Given the description of an element on the screen output the (x, y) to click on. 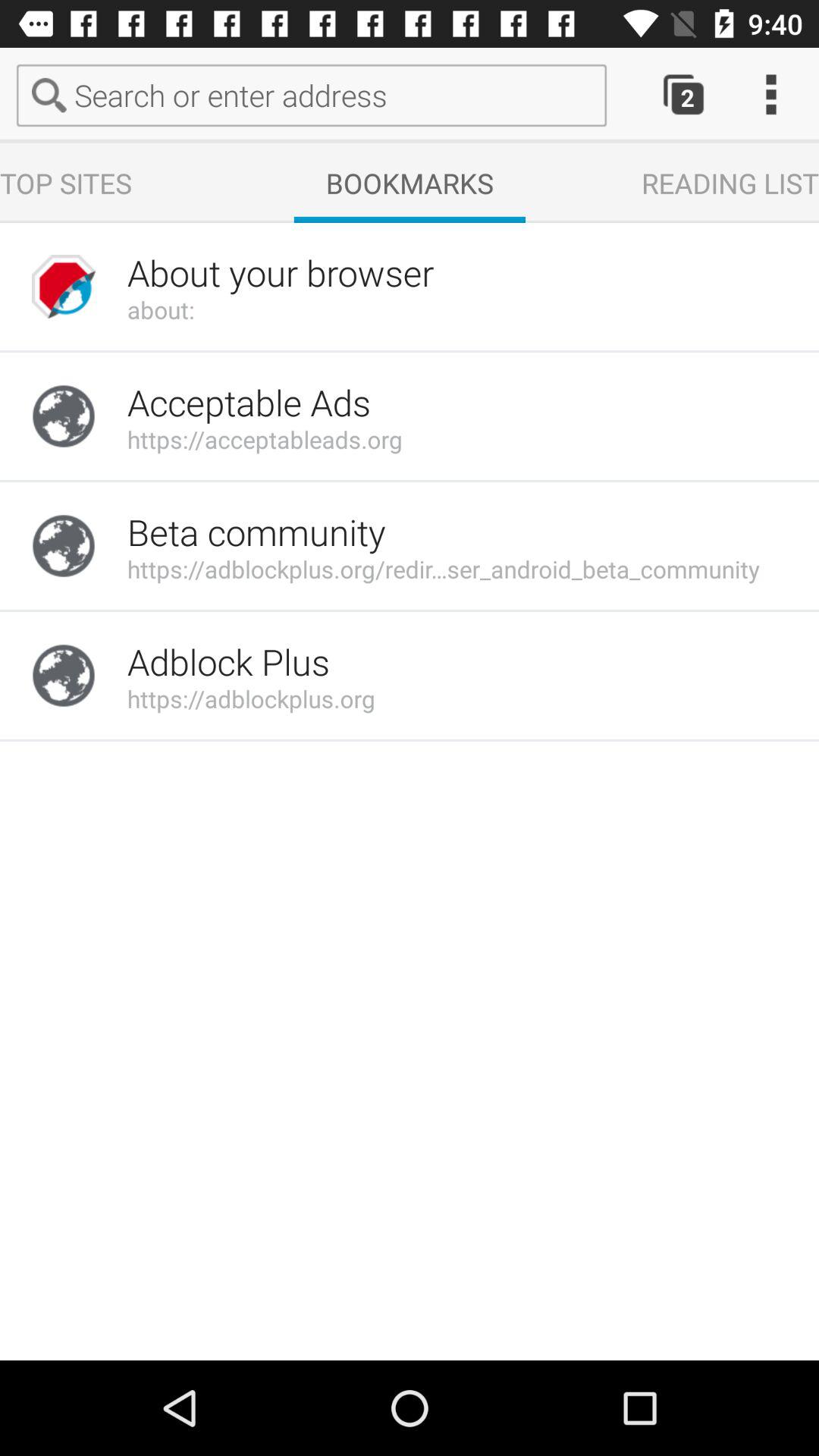
move to icon which is under the about your browser (63, 416)
select the icon which is to the immediate left of more options button (659, 95)
select reading list (730, 183)
go to the search icon (52, 95)
click on the text field search or enter address (311, 95)
